Given the description of an element on the screen output the (x, y) to click on. 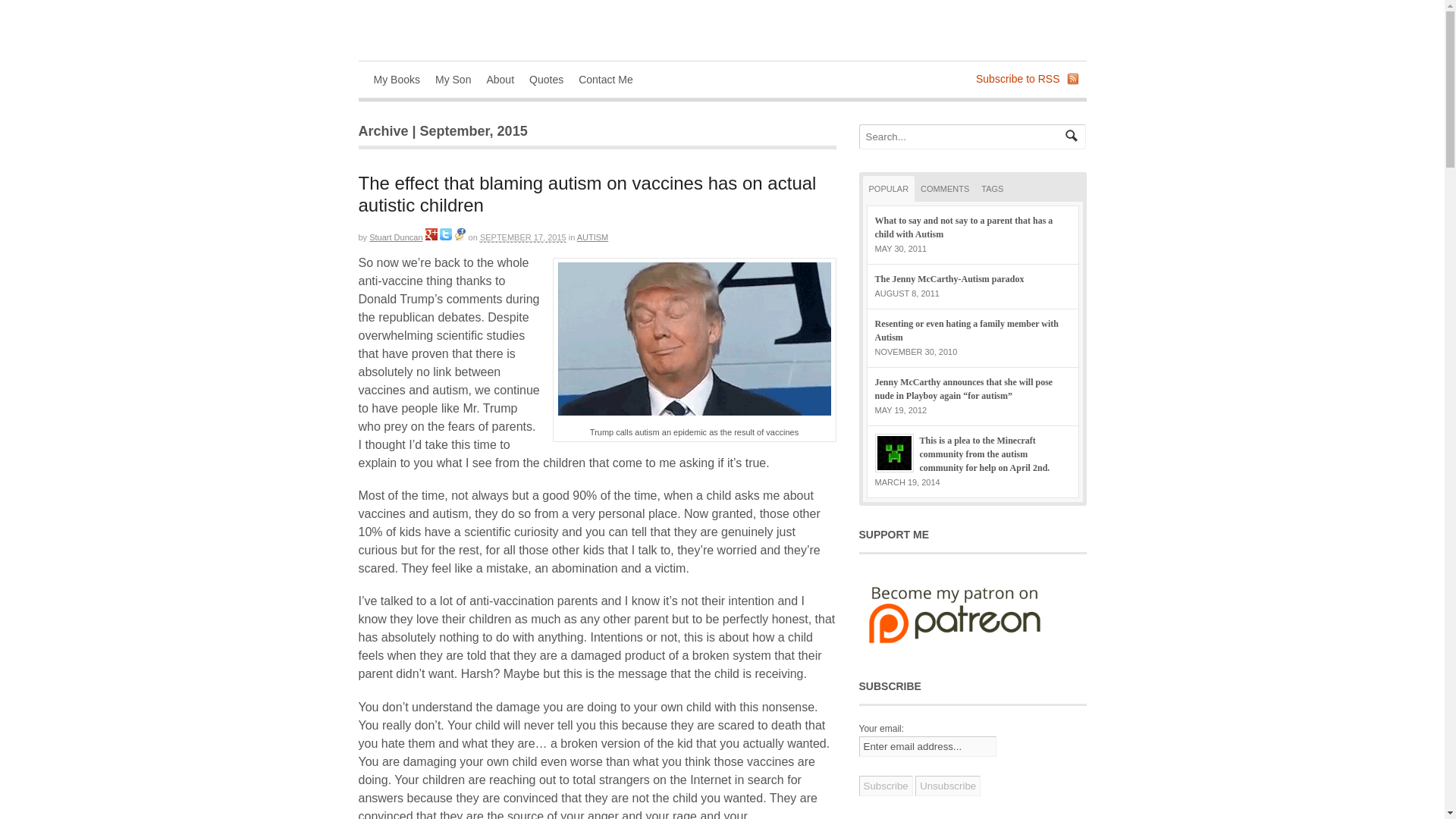
Subscribe (885, 785)
Quotes (545, 79)
Contact Me (605, 79)
About (500, 79)
Resenting or even hating a family member with Autism (967, 330)
My Son (453, 79)
Unsubscribe (947, 785)
Posts by Stuart Duncan (395, 236)
Subscribe to RSS (1017, 78)
2015-09-17T00:20:45-0400 (523, 237)
COMMENTS (944, 188)
